Given the description of an element on the screen output the (x, y) to click on. 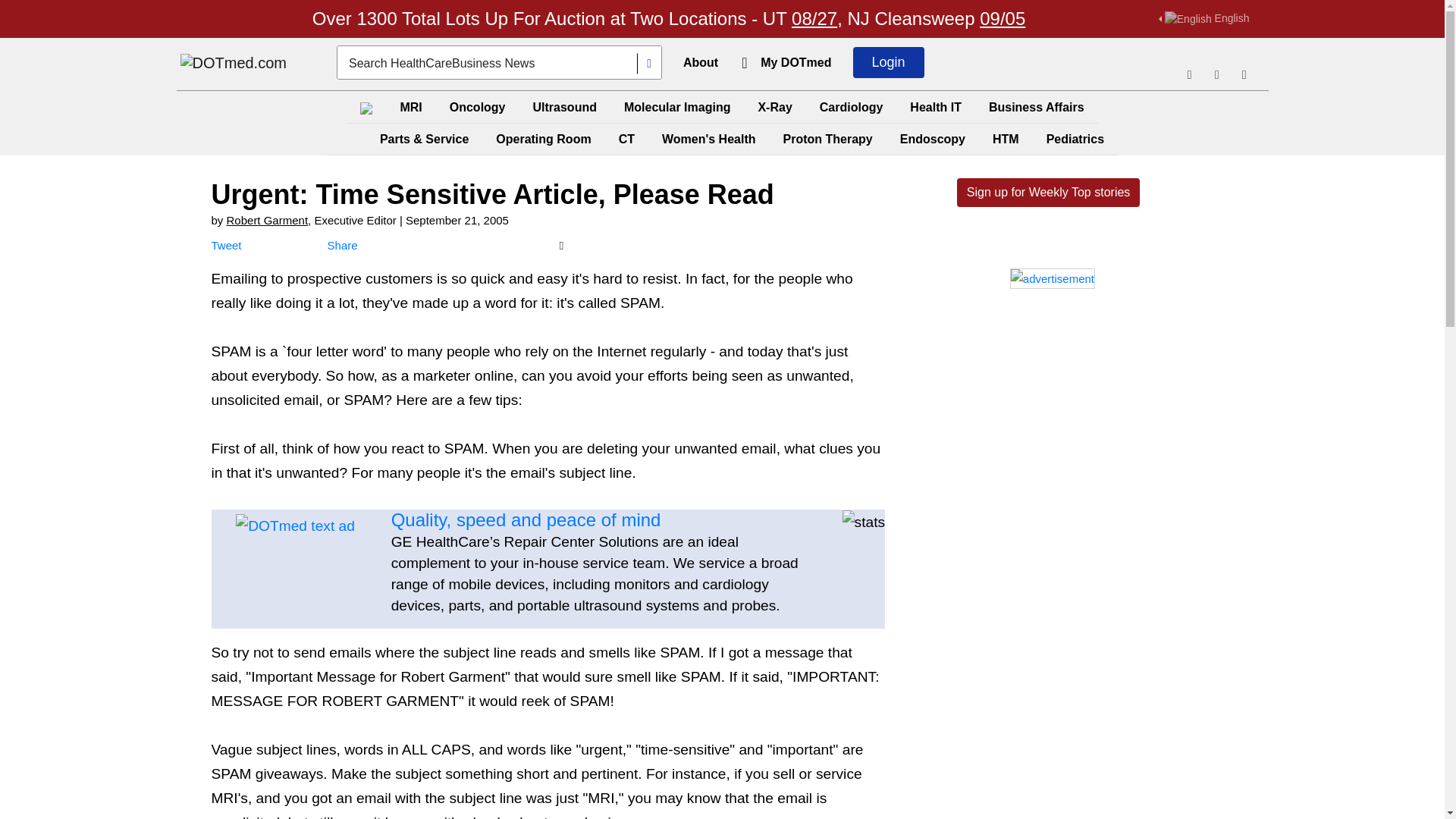
DOTmed News (233, 63)
My DOTmed (795, 61)
Molecular Imaging (676, 106)
Business Affairs (1036, 106)
MRI (410, 106)
Operating Room (542, 138)
Health IT (936, 106)
Ultrasound (564, 106)
Login (888, 61)
X-Ray (774, 106)
